Given the description of an element on the screen output the (x, y) to click on. 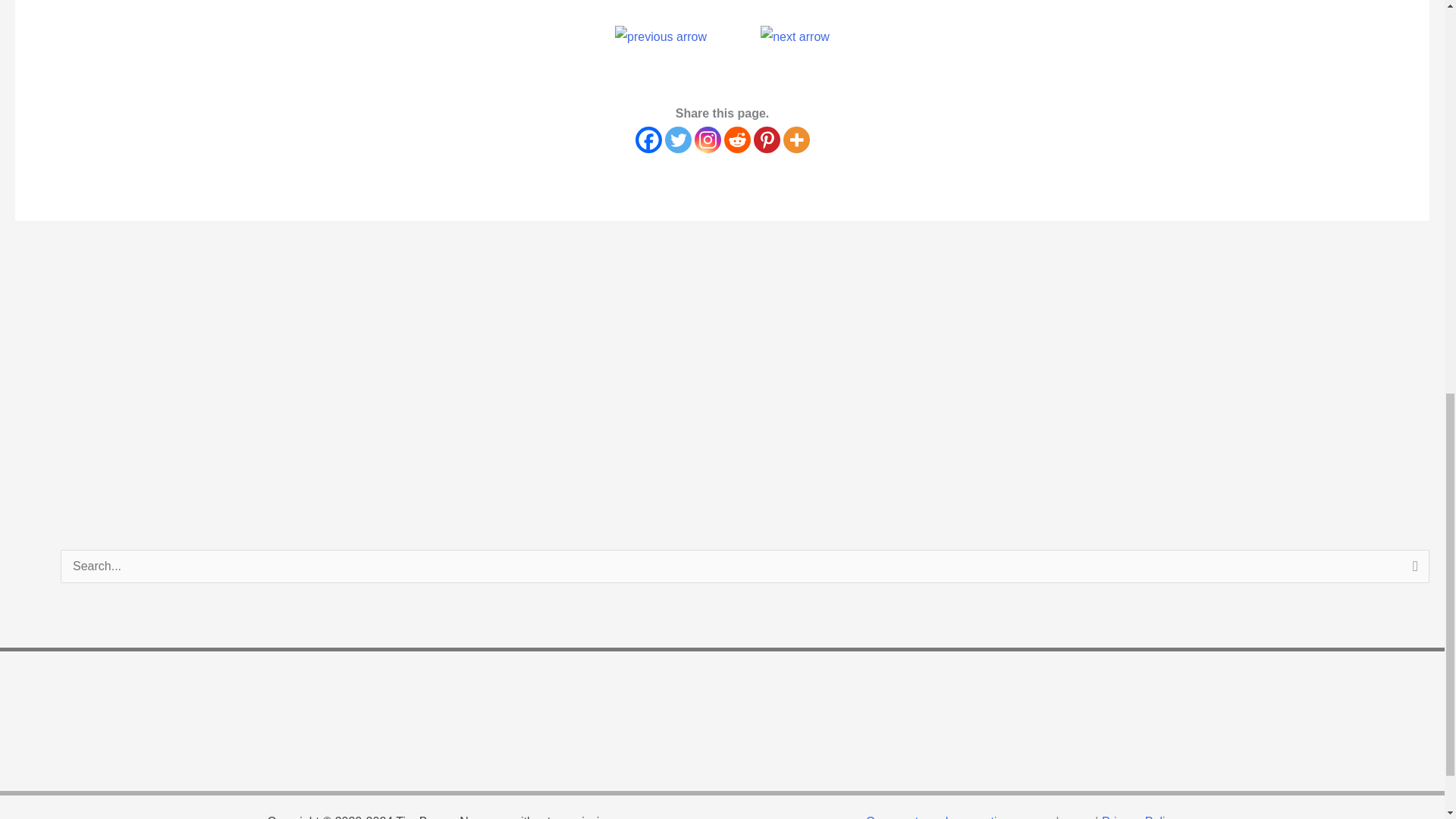
Pinterest (767, 139)
More (796, 139)
Reddit (736, 139)
Twitter (676, 139)
Facebook (648, 139)
Privacy Policy (1139, 816)
Instagram (707, 139)
Comments and suggestions (941, 816)
